Given the description of an element on the screen output the (x, y) to click on. 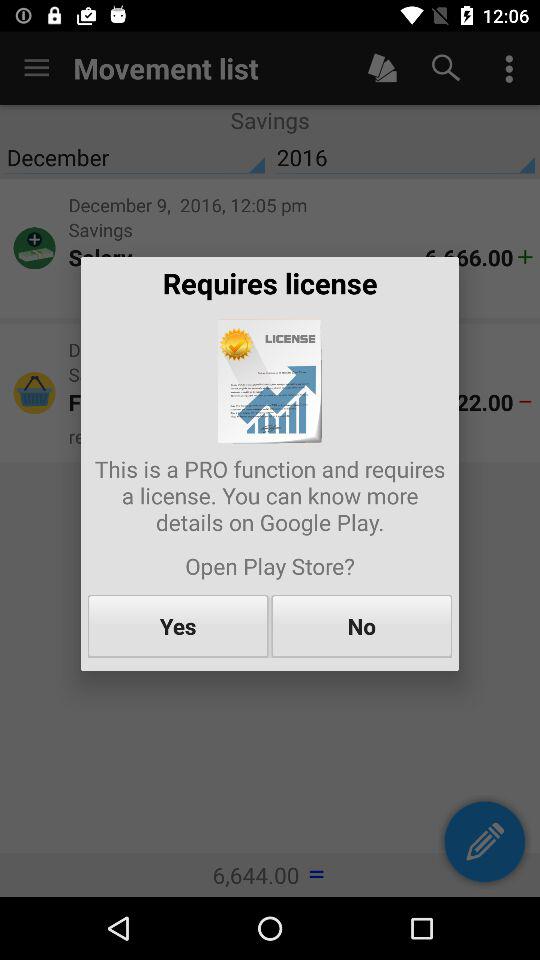
turn on the no item (361, 625)
